Given the description of an element on the screen output the (x, y) to click on. 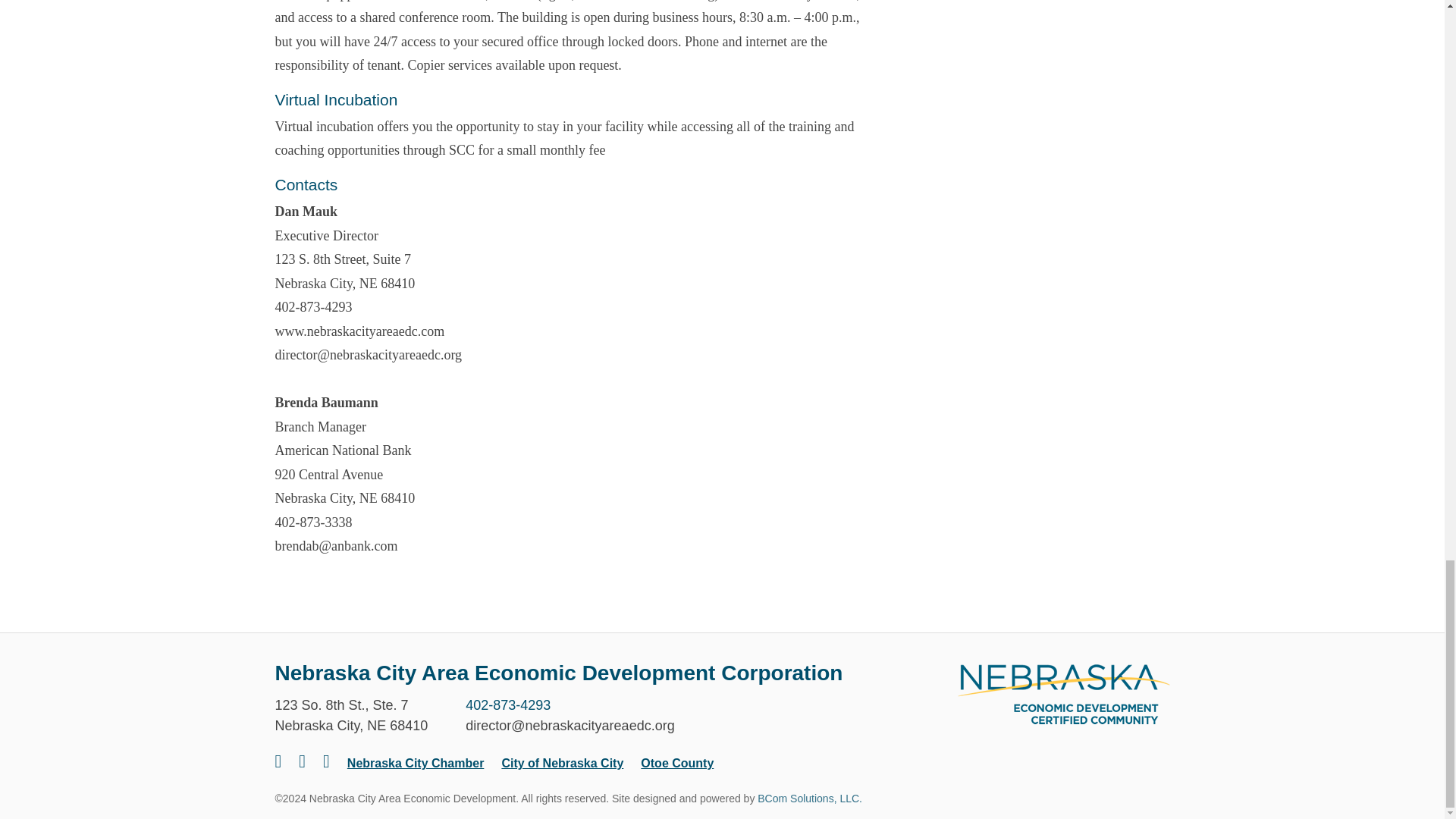
Nebraska Economic Development Certified Community (1062, 693)
Twitter (302, 761)
LinkedIn (325, 761)
